Given the description of an element on the screen output the (x, y) to click on. 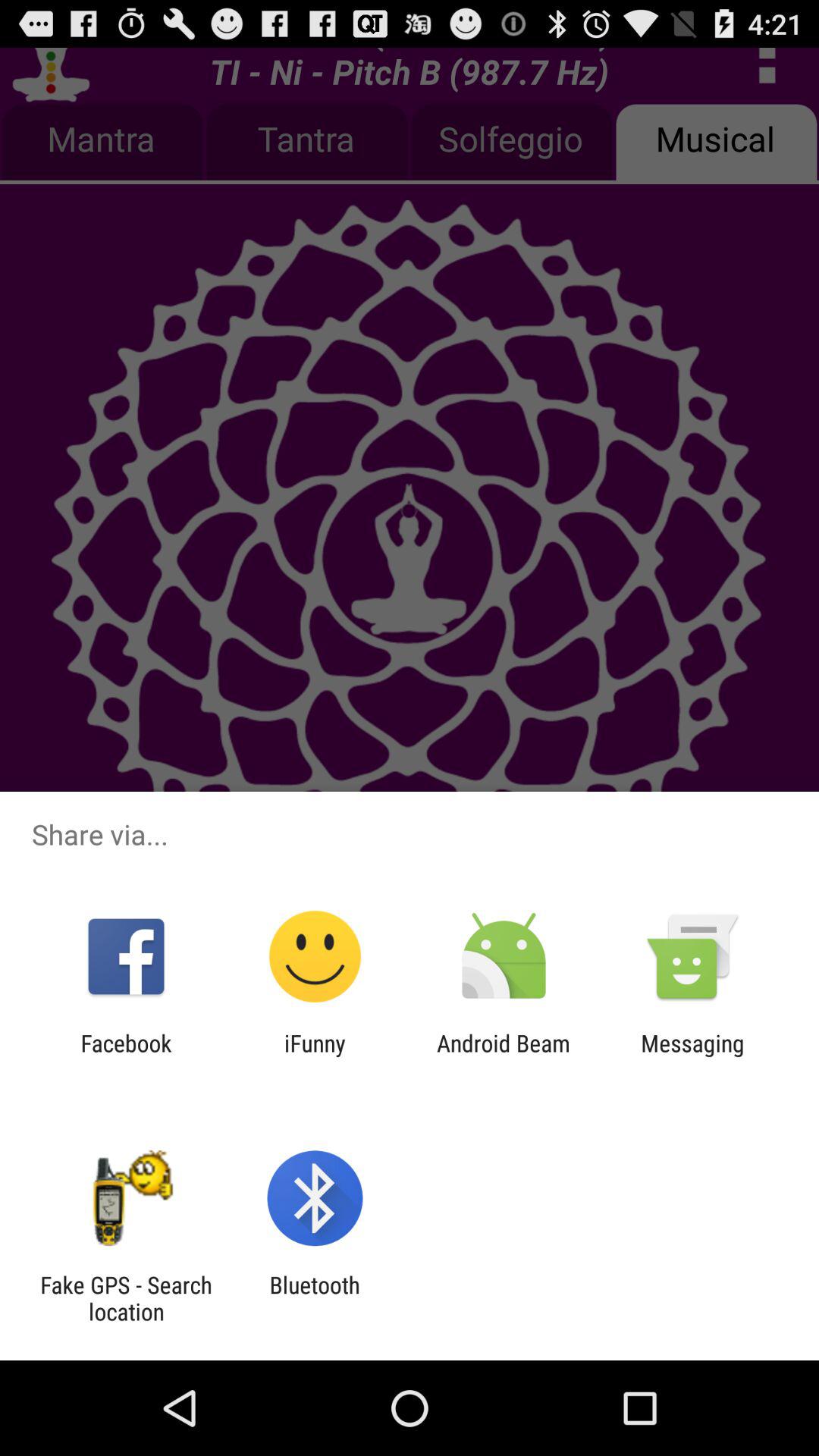
swipe until the messaging item (692, 1056)
